Given the description of an element on the screen output the (x, y) to click on. 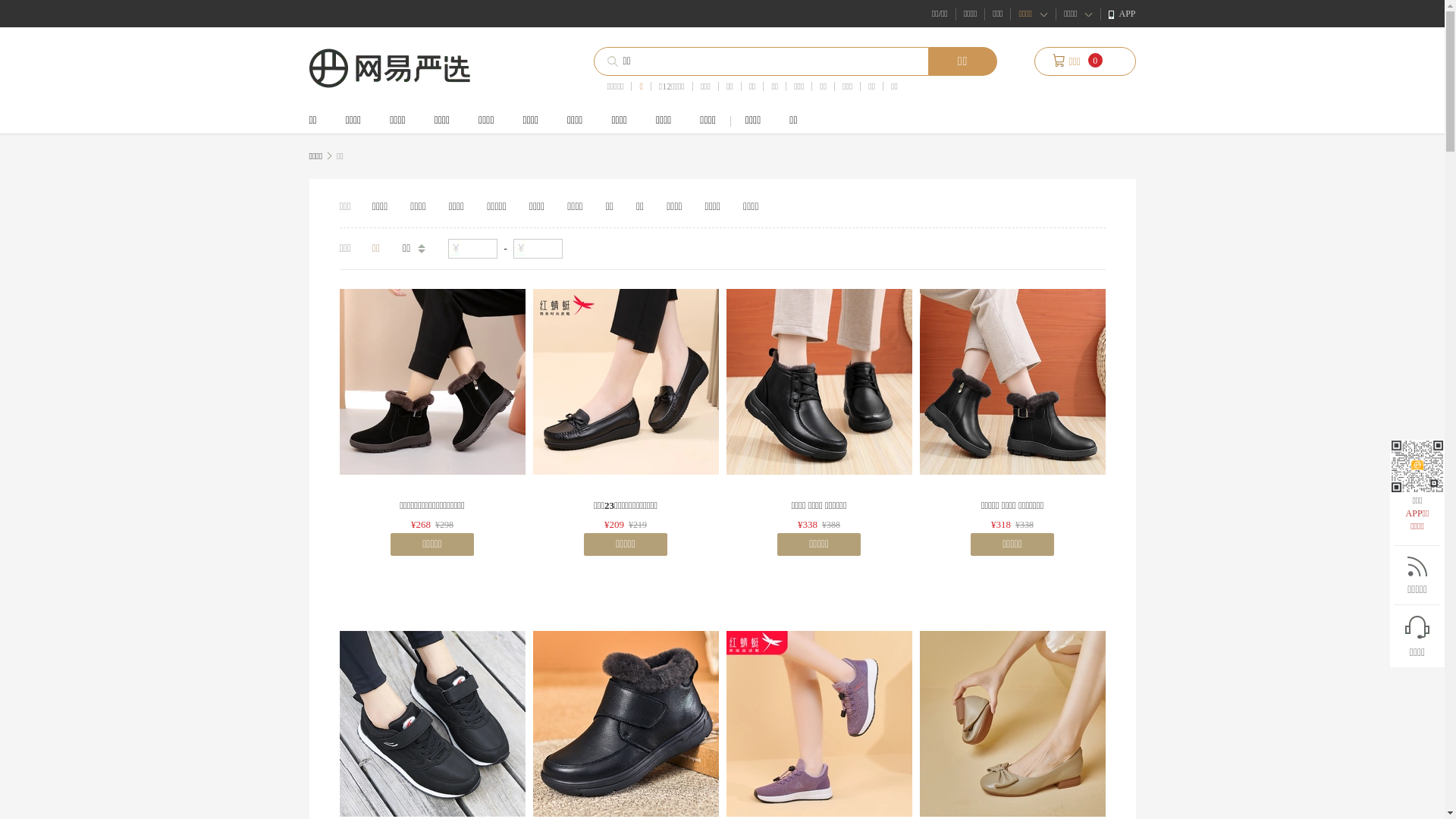
APP Element type: text (1121, 13)
